Given the description of an element on the screen output the (x, y) to click on. 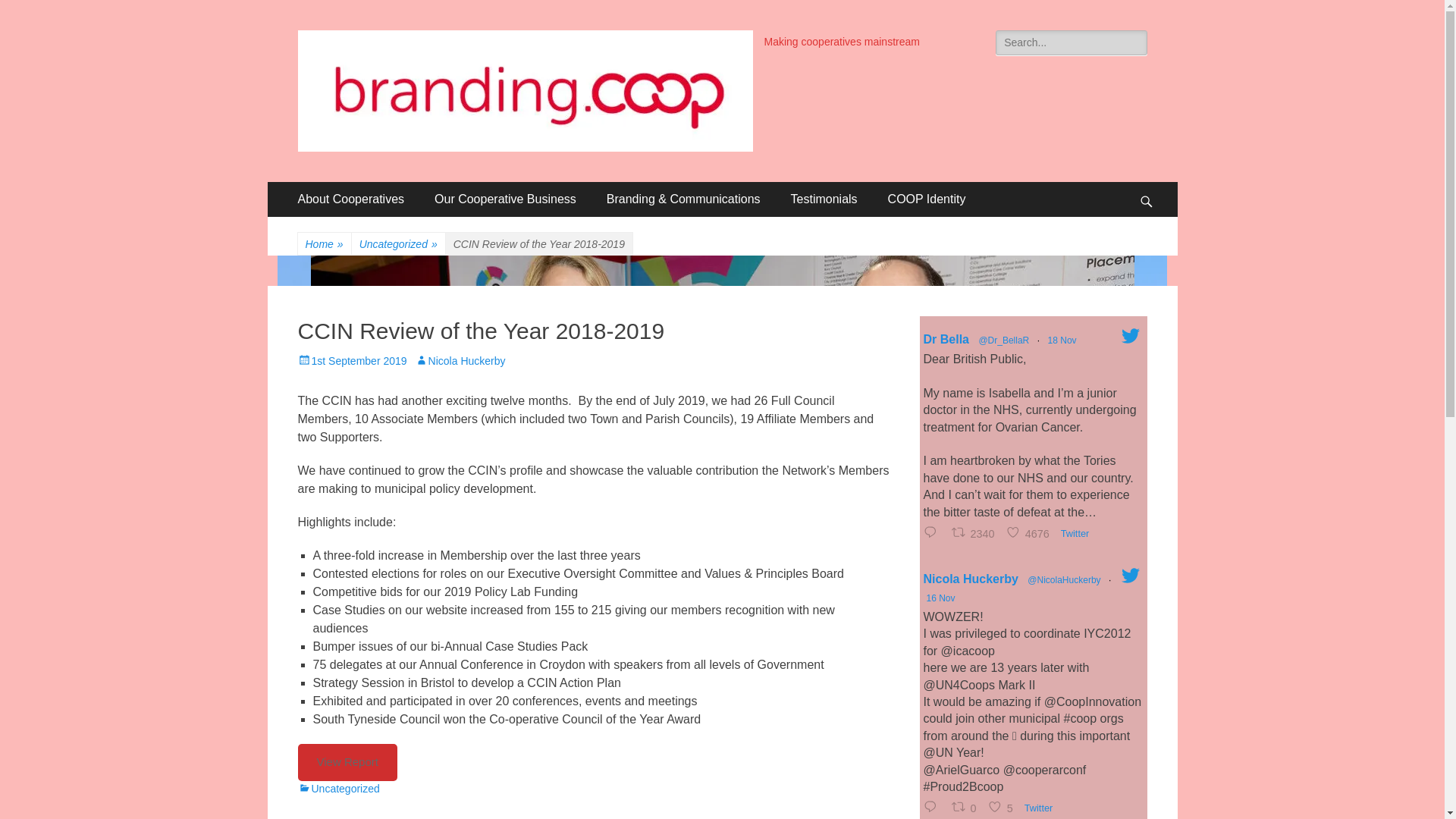
Testimonials (824, 199)
Search for: (1071, 42)
Search (33, 13)
COOP Identity (926, 199)
Our Cooperative Business (505, 199)
About Cooperatives (350, 199)
